Given the description of an element on the screen output the (x, y) to click on. 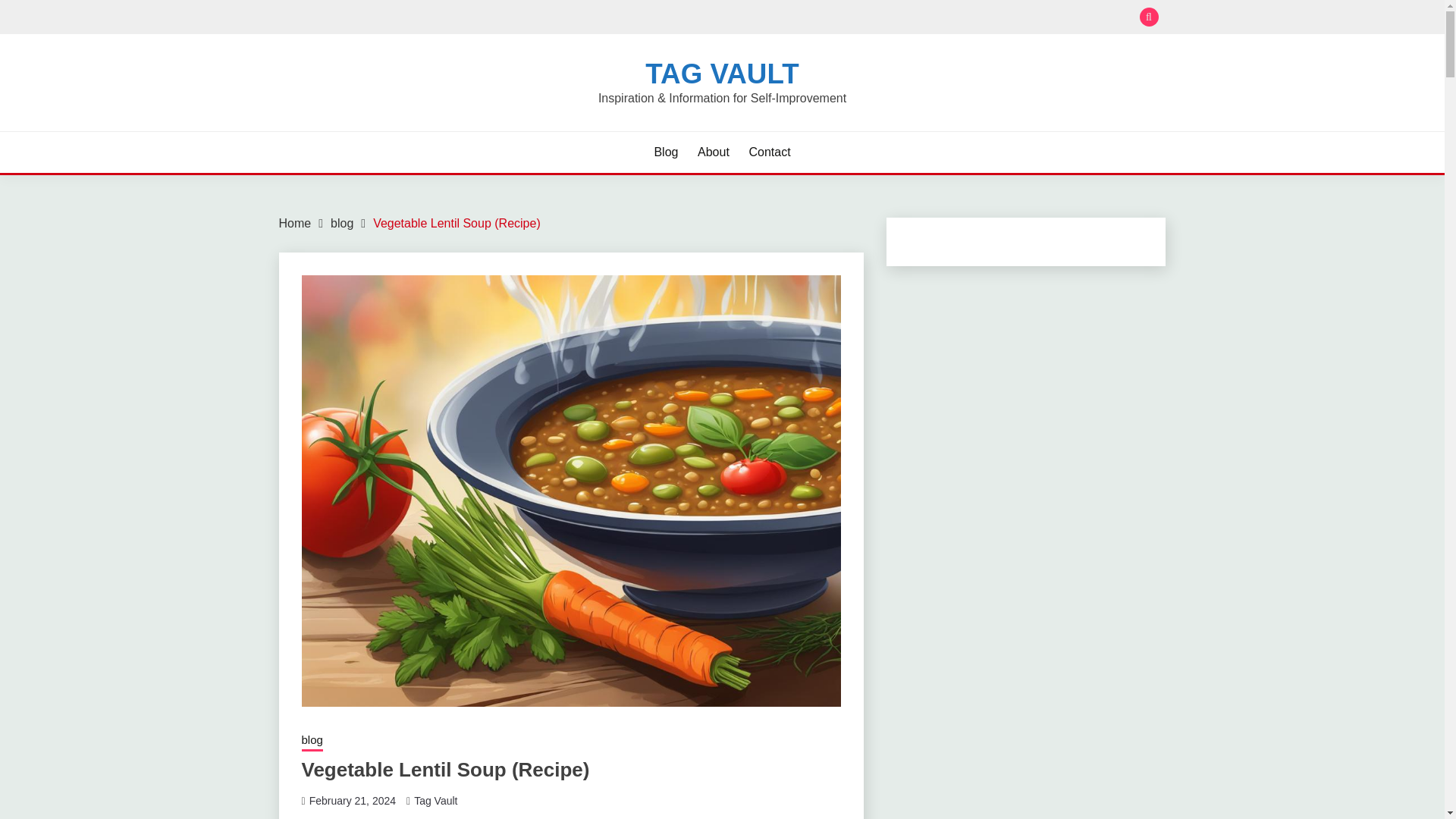
Contact (769, 152)
blog (312, 741)
Blog (665, 152)
Tag Vault (435, 800)
About (713, 152)
February 21, 2024 (352, 800)
Home (295, 223)
Search (832, 18)
TAG VAULT (721, 73)
blog (341, 223)
